Given the description of an element on the screen output the (x, y) to click on. 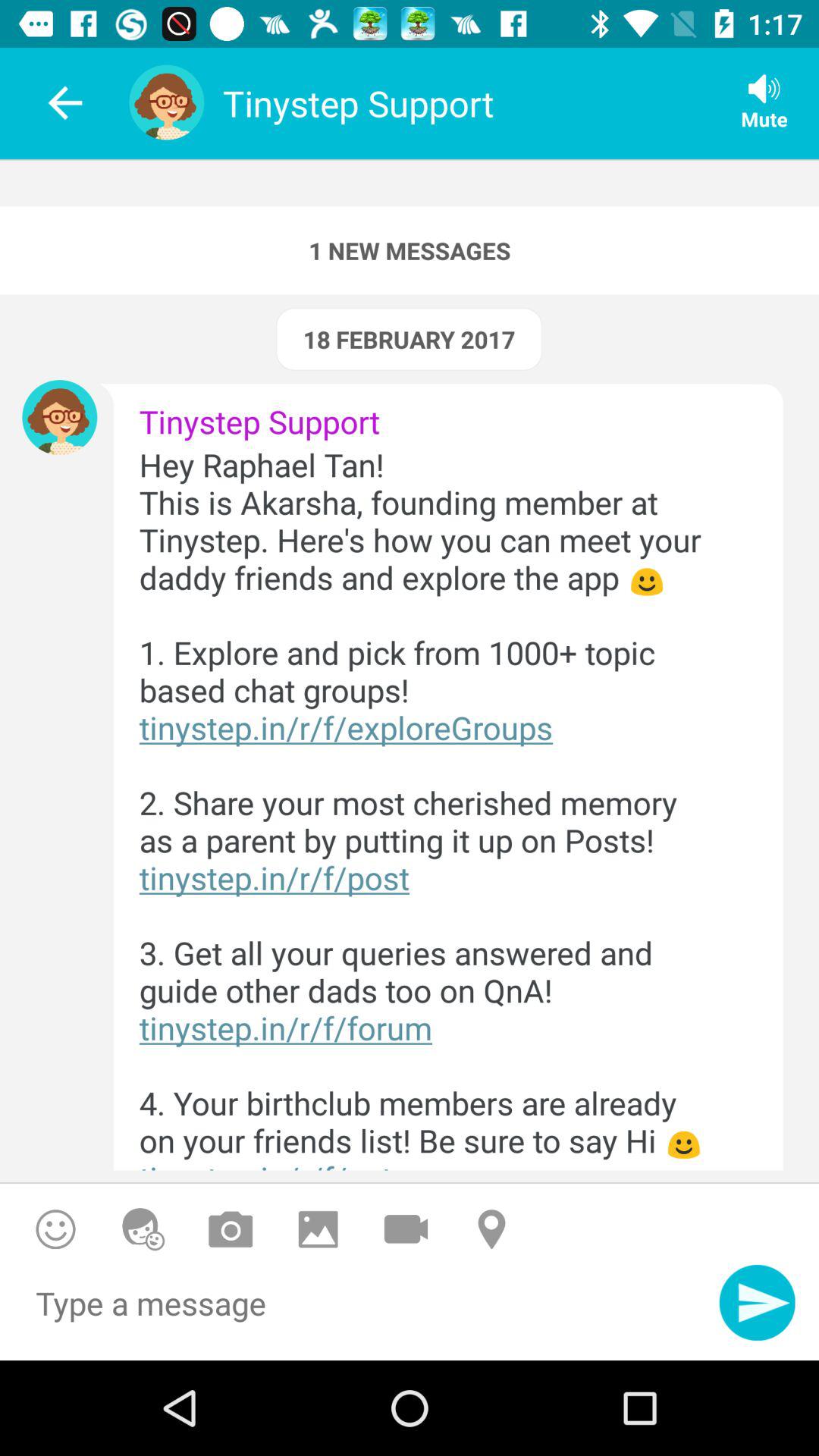
tap the 18 february 2017 item (409, 339)
